Given the description of an element on the screen output the (x, y) to click on. 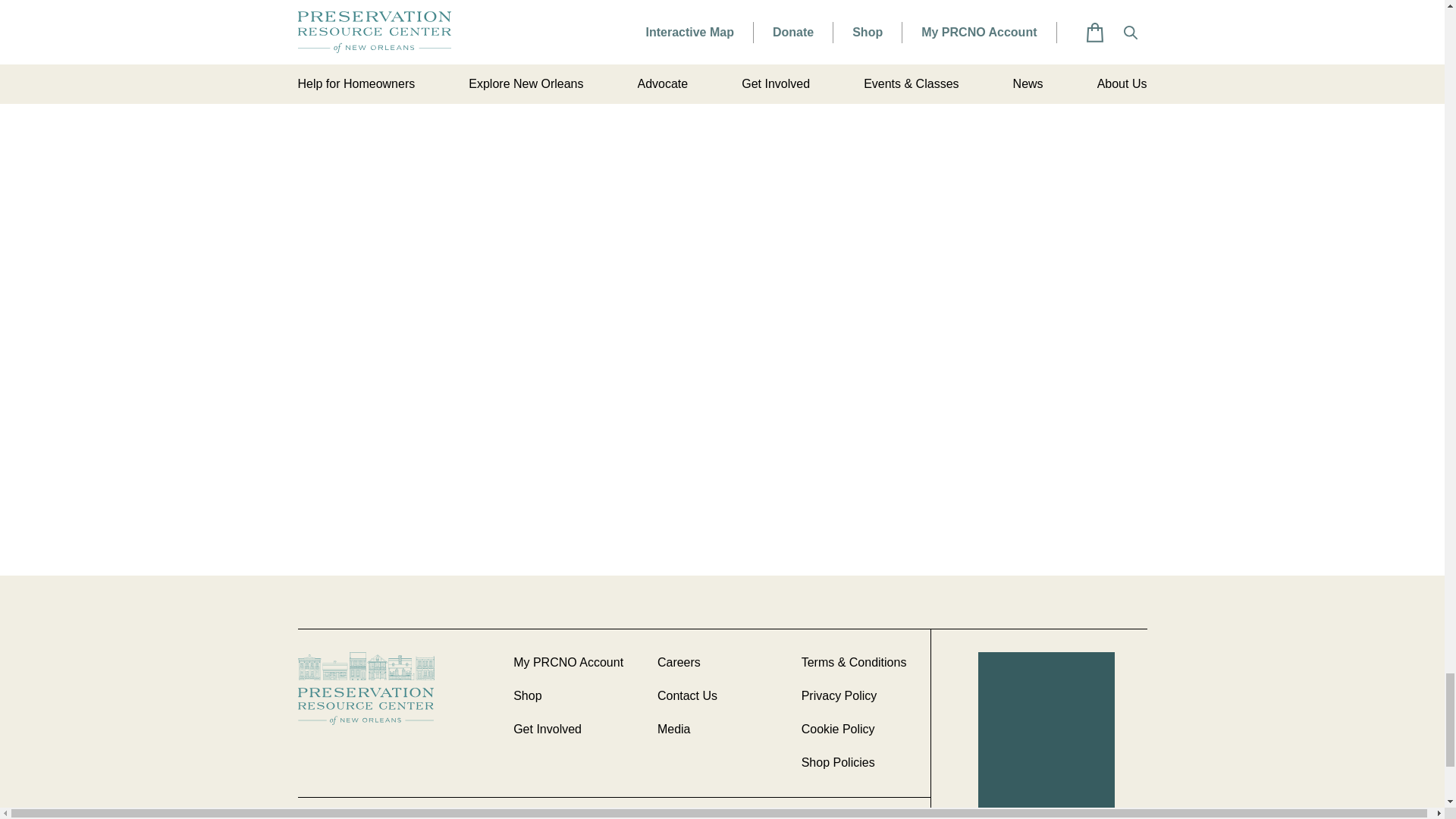
Preservation Resource Center of New Orleans (397, 687)
